Given the description of an element on the screen output the (x, y) to click on. 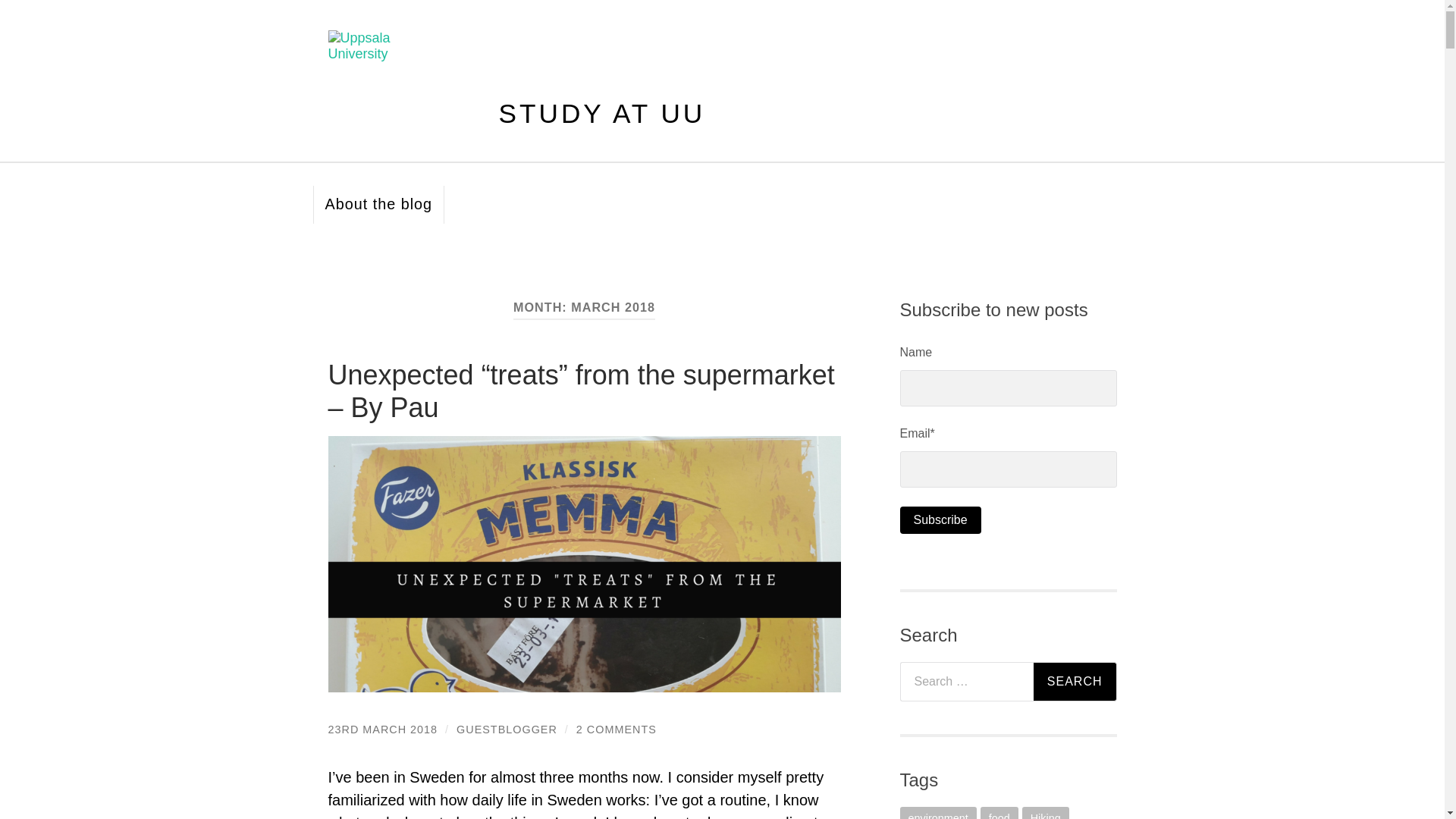
About the blog (378, 204)
GUESTBLOGGER (507, 729)
2 COMMENTS (616, 729)
Posts by Guestblogger (507, 729)
Search (1074, 681)
STUDY AT UU (602, 112)
Search (1074, 681)
Subscribe (939, 519)
23RD MARCH 2018 (382, 729)
